Given the description of an element on the screen output the (x, y) to click on. 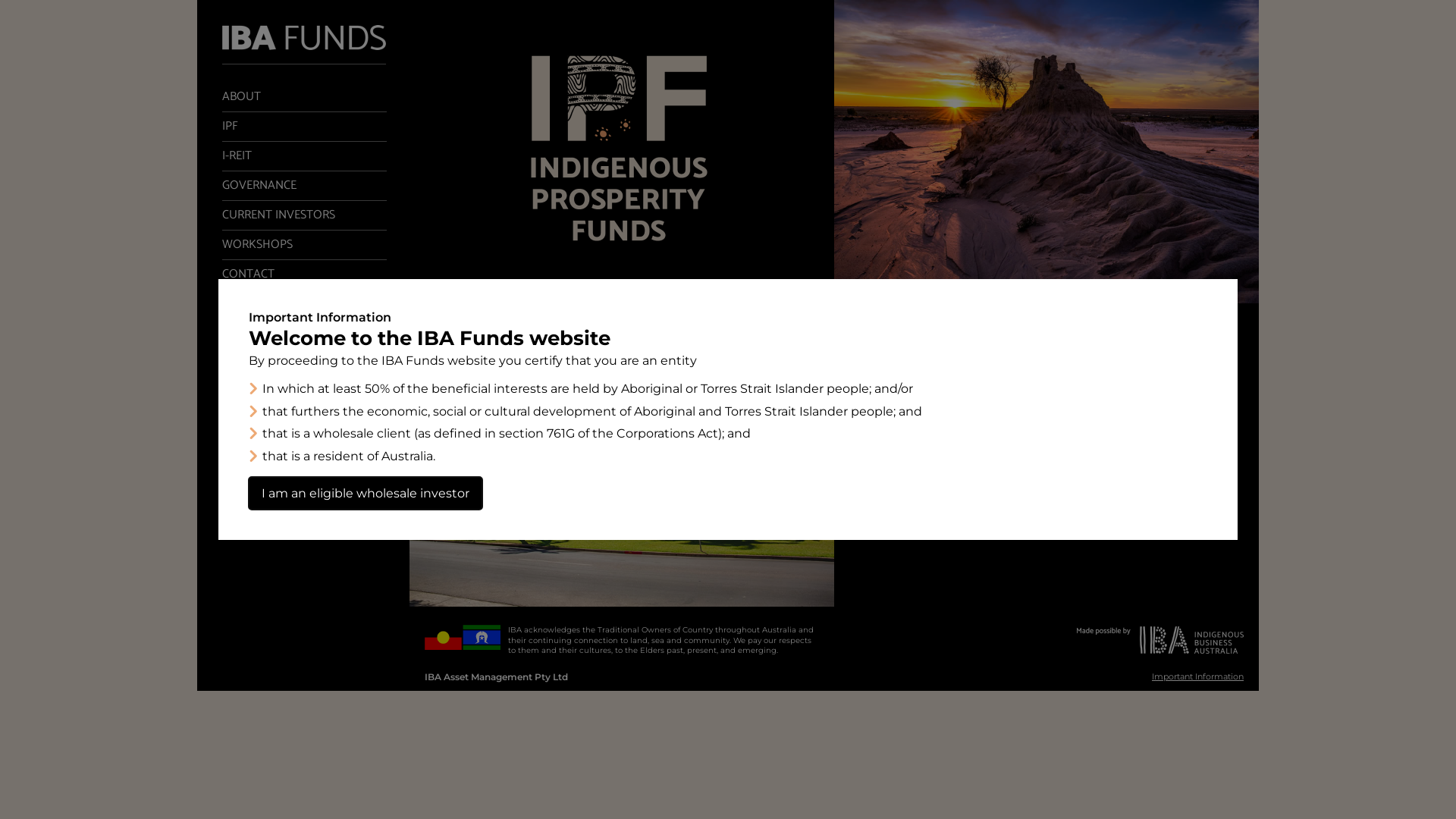
IPF Element type: text (304, 126)
ABOUT Element type: text (304, 96)
WORKSHOPS Element type: text (304, 244)
CURRENT INVESTORS Element type: text (304, 214)
GOVERNANCE Element type: text (304, 185)
I am an eligible wholesale investor Element type: text (365, 493)
I-REIT Element type: text (304, 155)
CONTACT Element type: text (304, 274)
Important Information Element type: text (1197, 675)
INDIGENOUS
REAL ESTATE
INVESTMENT TRUST Element type: text (833, 454)
